Given the description of an element on the screen output the (x, y) to click on. 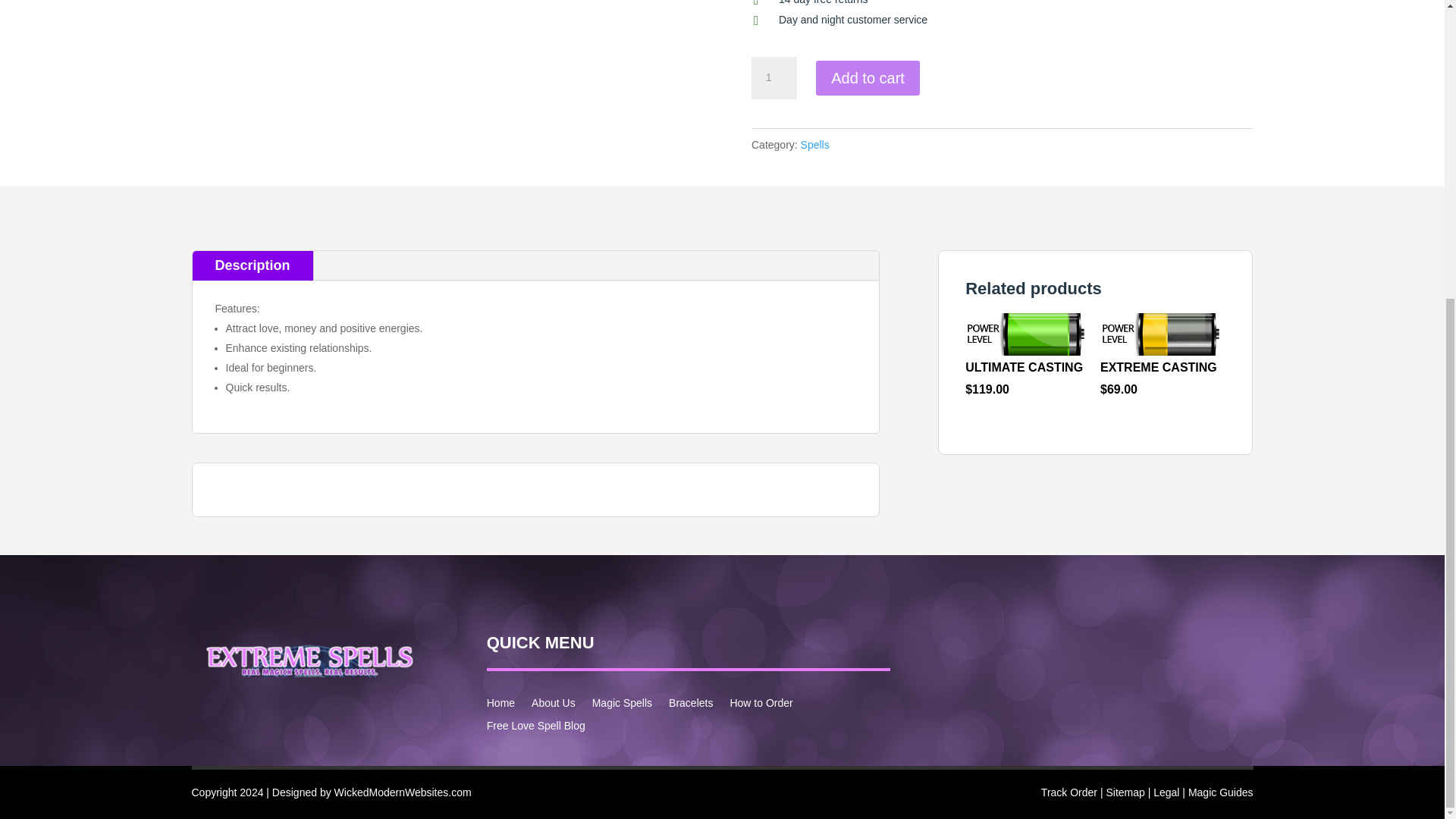
1 (773, 77)
Extreme Spells Logo (301, 657)
